Given the description of an element on the screen output the (x, y) to click on. 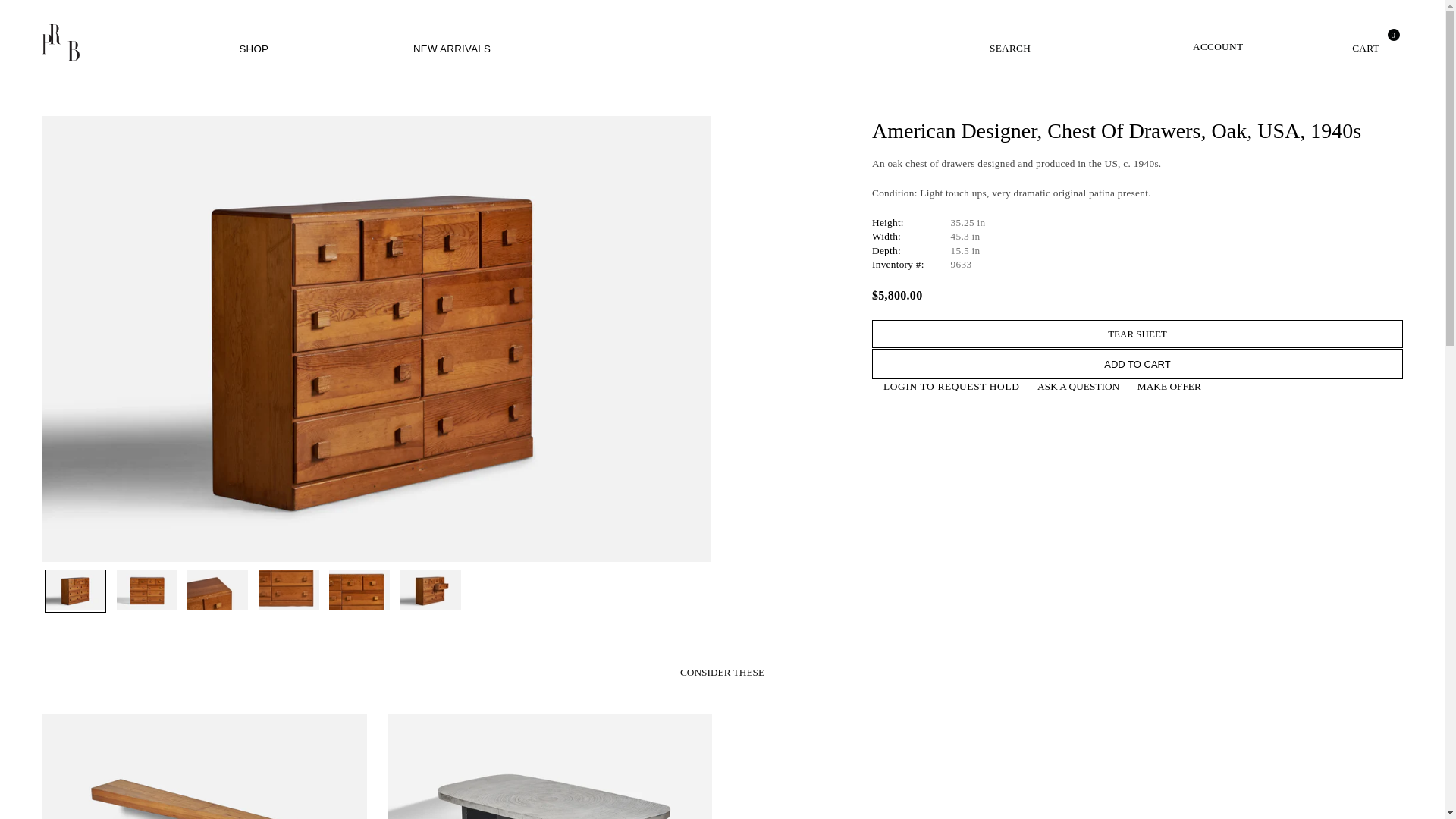
ACCOUNT (1190, 42)
Search (1009, 42)
Account (1190, 42)
American Designer, Chest of Drawers, Oak, USA, 1940s (146, 590)
SHOP (253, 48)
0 (1336, 42)
Finn Juhl, Rare Sofa, Walnut, Fabric, United States, 1951 (894, 766)
TEAR SHEET (1137, 334)
Cart (1336, 42)
American Designer, Chest of Drawers, Oak, USA, 1940s (288, 590)
American Designer, Chest of Drawers, Oak, USA, 1940s (75, 590)
PRB (106, 42)
NEW ARRIVALS (451, 48)
American Designer, Chest of Drawers, Oak, USA, 1940s (359, 590)
